Given the description of an element on the screen output the (x, y) to click on. 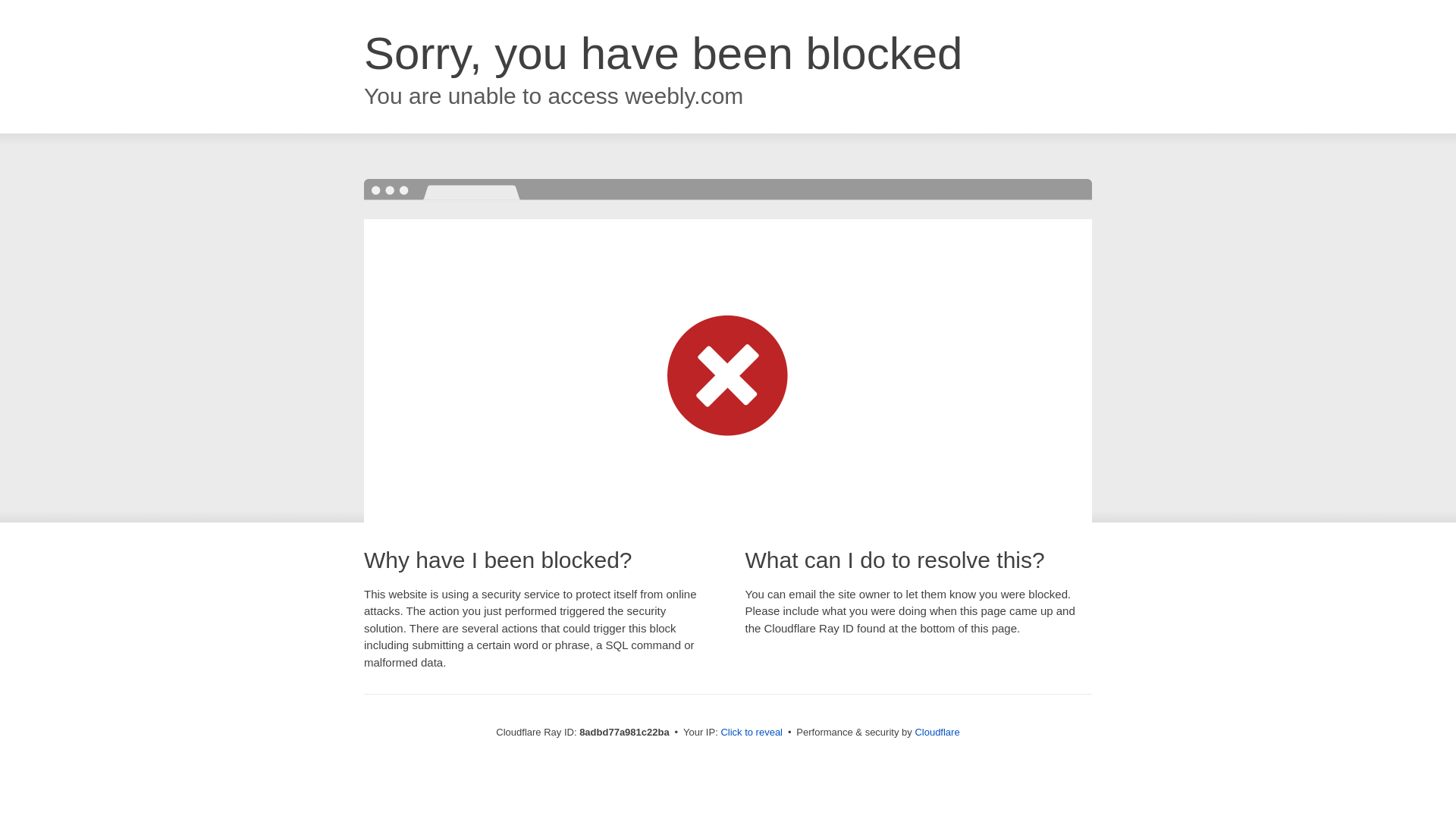
Cloudflare (936, 731)
Click to reveal (751, 732)
